Given the description of an element on the screen output the (x, y) to click on. 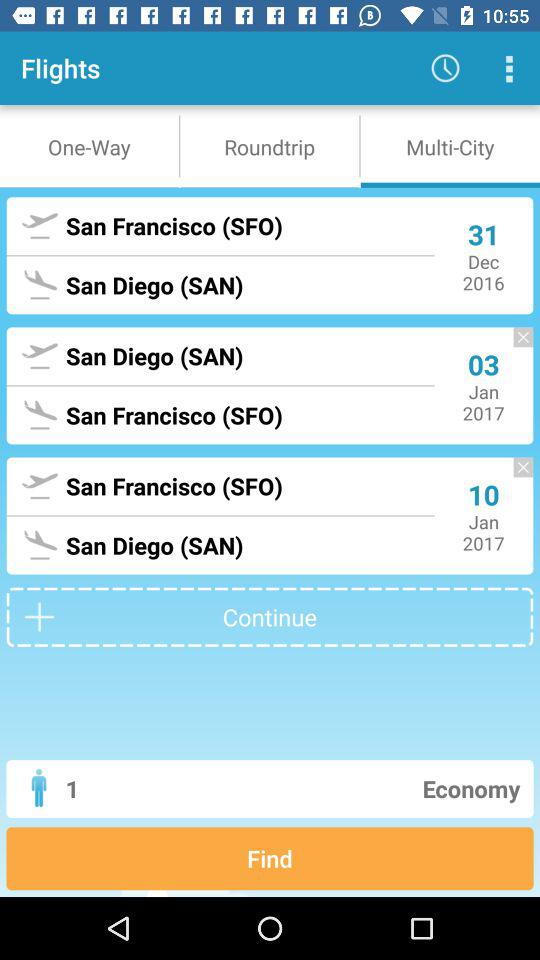
tap app next to the flights item (444, 67)
